Given the description of an element on the screen output the (x, y) to click on. 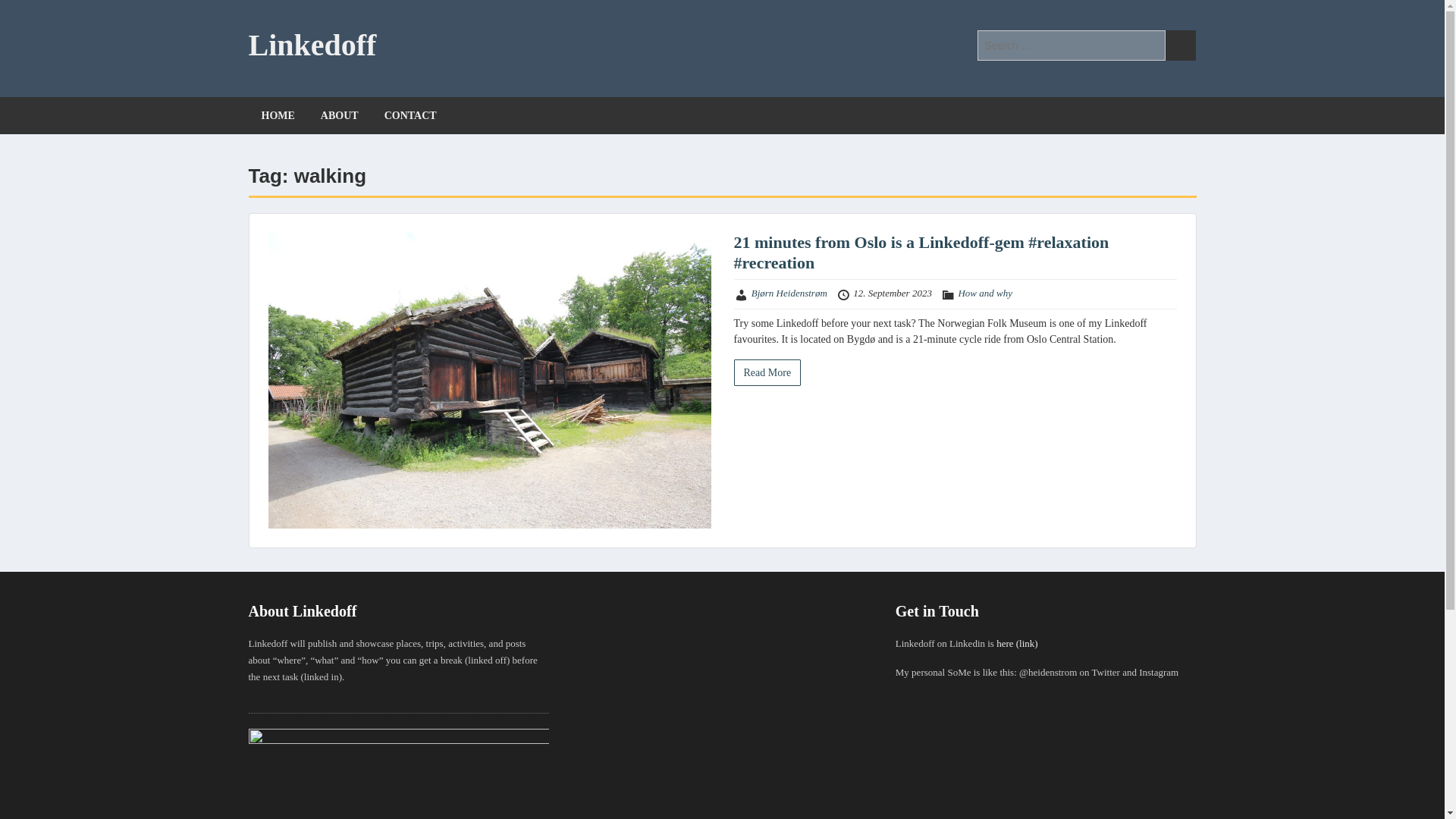
Search for: (1071, 45)
Search (1180, 45)
How and why (984, 292)
Search (1180, 45)
How and why (984, 292)
CONTACT (410, 115)
ABOUT (339, 115)
Linkedoff (312, 44)
Read More (767, 372)
HOME (277, 115)
